Given the description of an element on the screen output the (x, y) to click on. 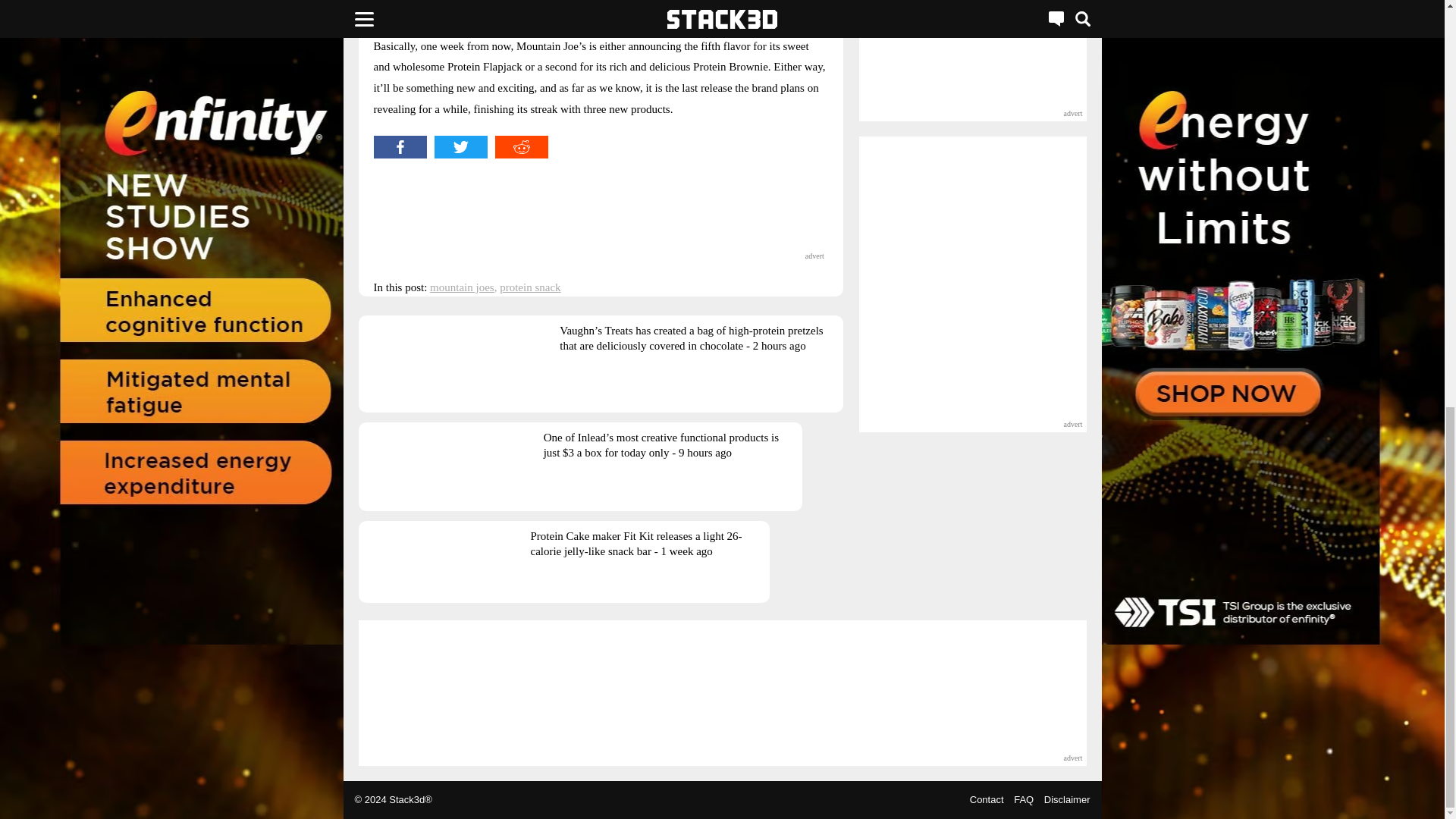
mountain joes (462, 287)
